Given the description of an element on the screen output the (x, y) to click on. 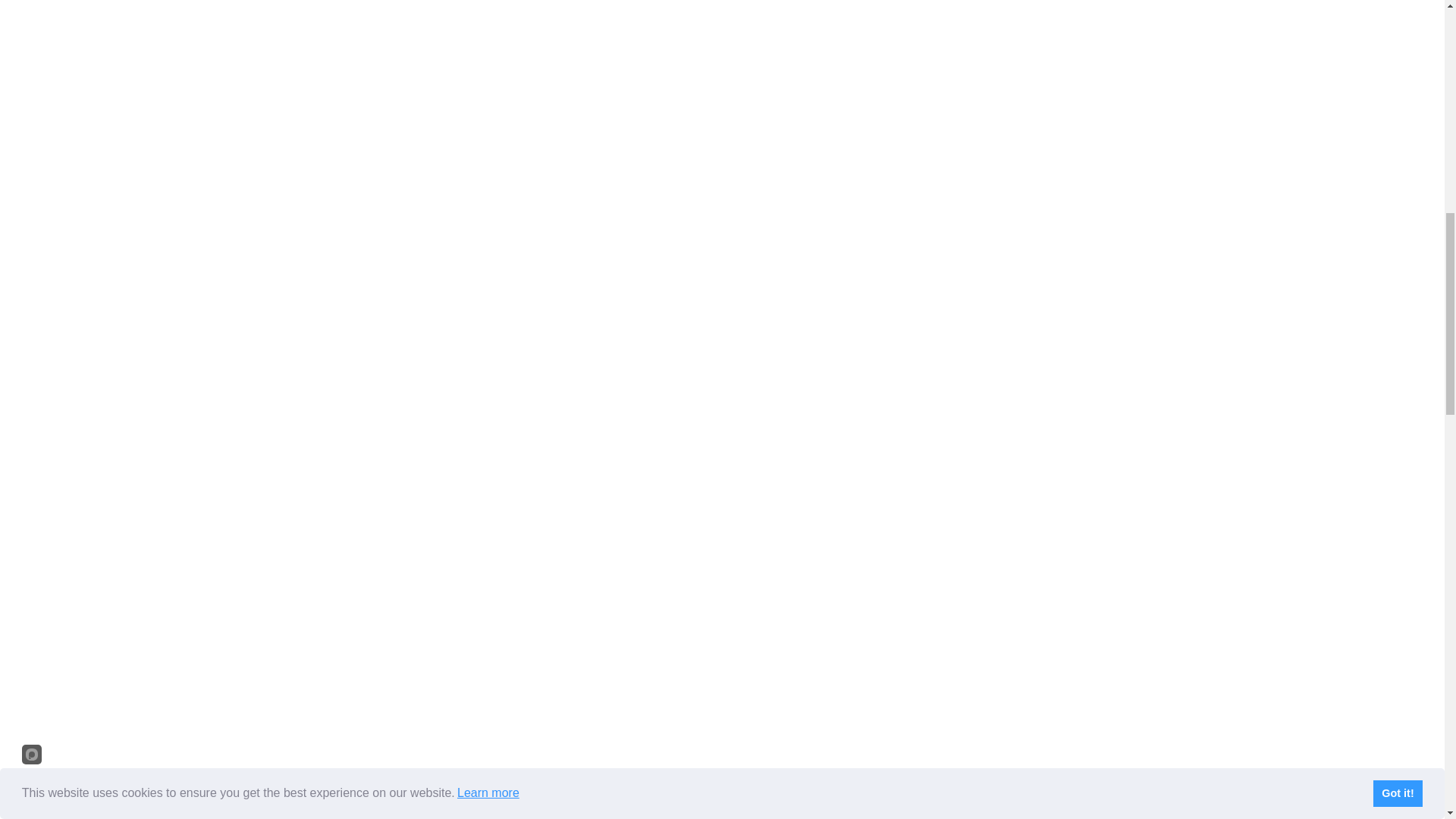
Flat Boots (599, 572)
Flash Sale (599, 71)
Hot 12 (845, 71)
Best Seller (722, 751)
PU Boots (845, 572)
